Given the description of an element on the screen output the (x, y) to click on. 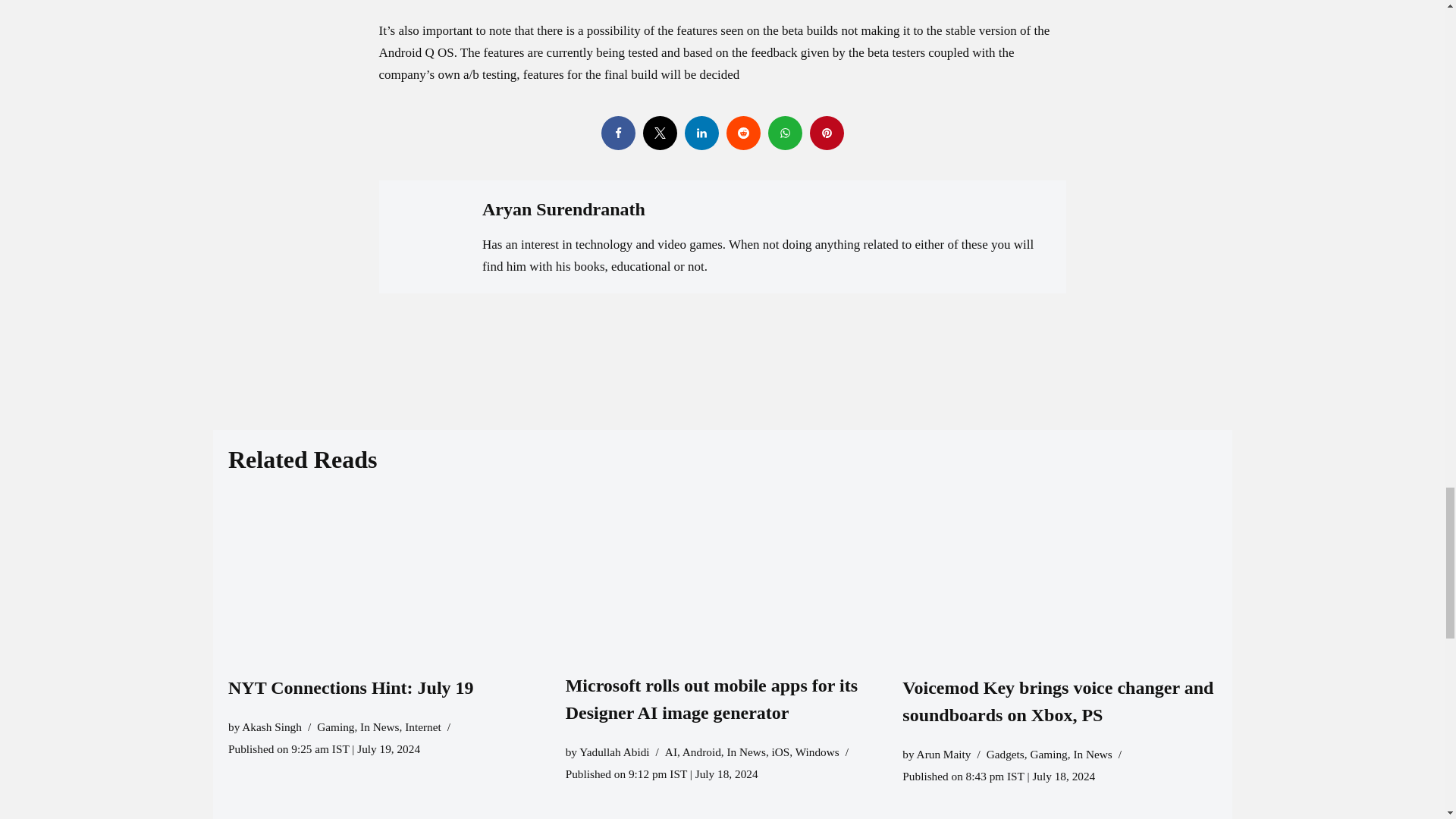
Twitter (660, 132)
Linkedin (700, 132)
Facebook (616, 132)
